Given the description of an element on the screen output the (x, y) to click on. 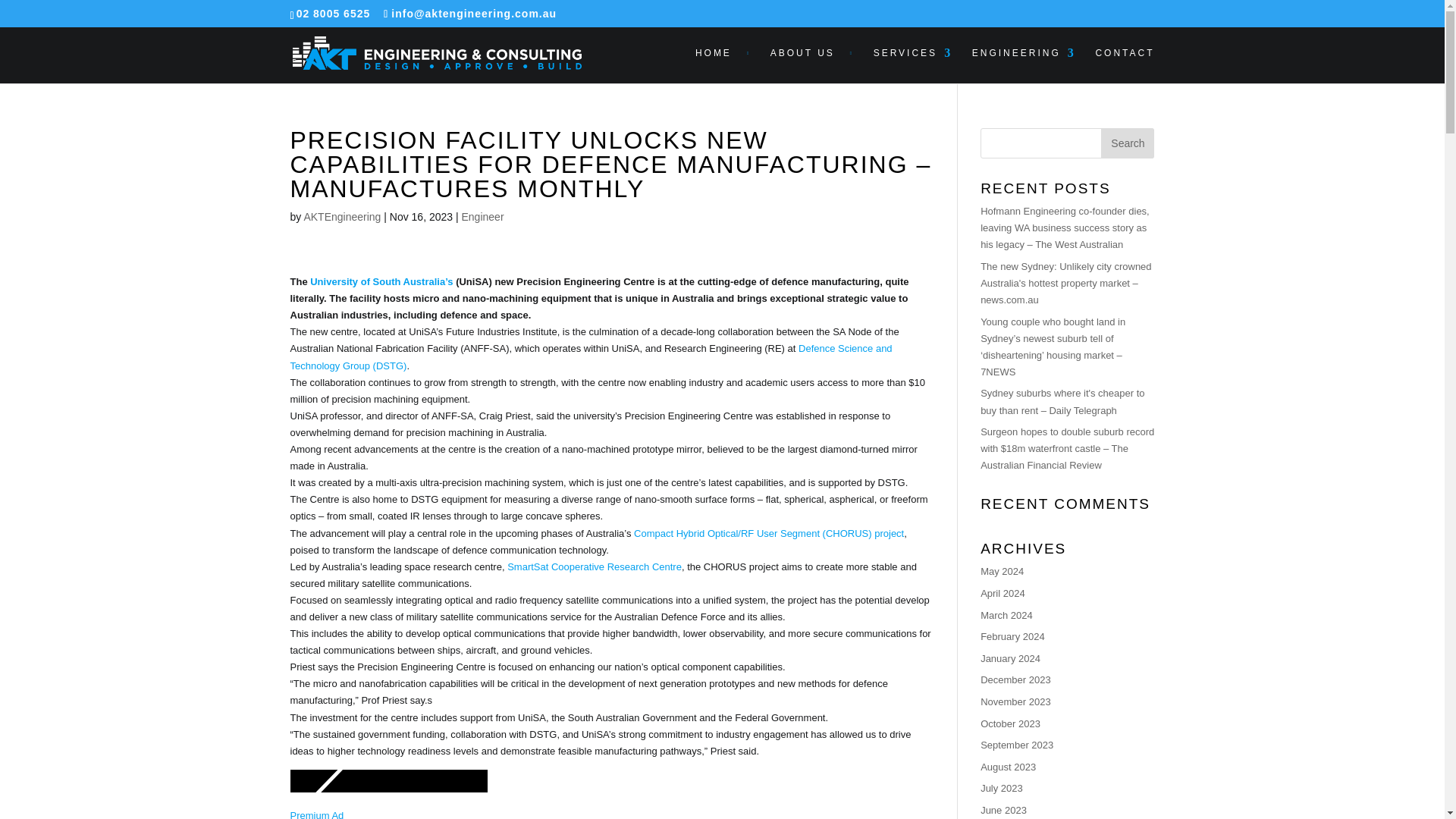
SmartSat Cooperative Research Centre (593, 566)
SERVICES (912, 65)
CONTACT (1124, 65)
Engineer (482, 216)
Search (1127, 142)
HOME (723, 65)
AKTEngineering (341, 216)
ABOUT US (811, 65)
Posts by AKTEngineering (341, 216)
ENGINEERING (1023, 65)
